Given the description of an element on the screen output the (x, y) to click on. 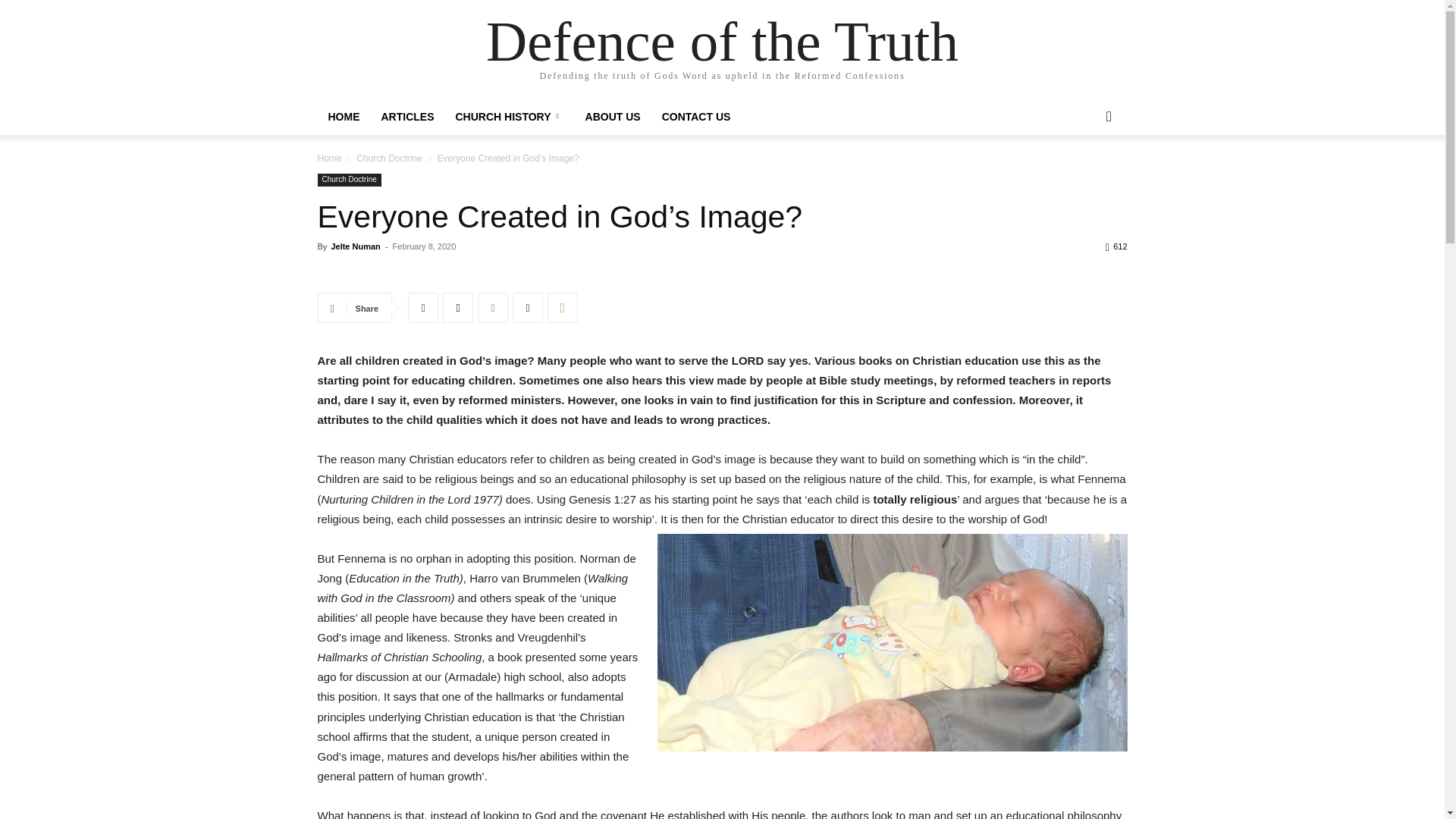
Twitter (527, 307)
Facebook (492, 307)
Email (457, 307)
Print (422, 307)
Home (328, 158)
HOME (343, 116)
Search (1085, 177)
Church Doctrine (348, 179)
topFacebookLike (430, 273)
Church Doctrine (389, 158)
CHURCH HISTORY (508, 116)
ARTICLES (406, 116)
Jelte Numan (355, 245)
WhatsApp (562, 307)
Defence of the Truth (722, 41)
